Given the description of an element on the screen output the (x, y) to click on. 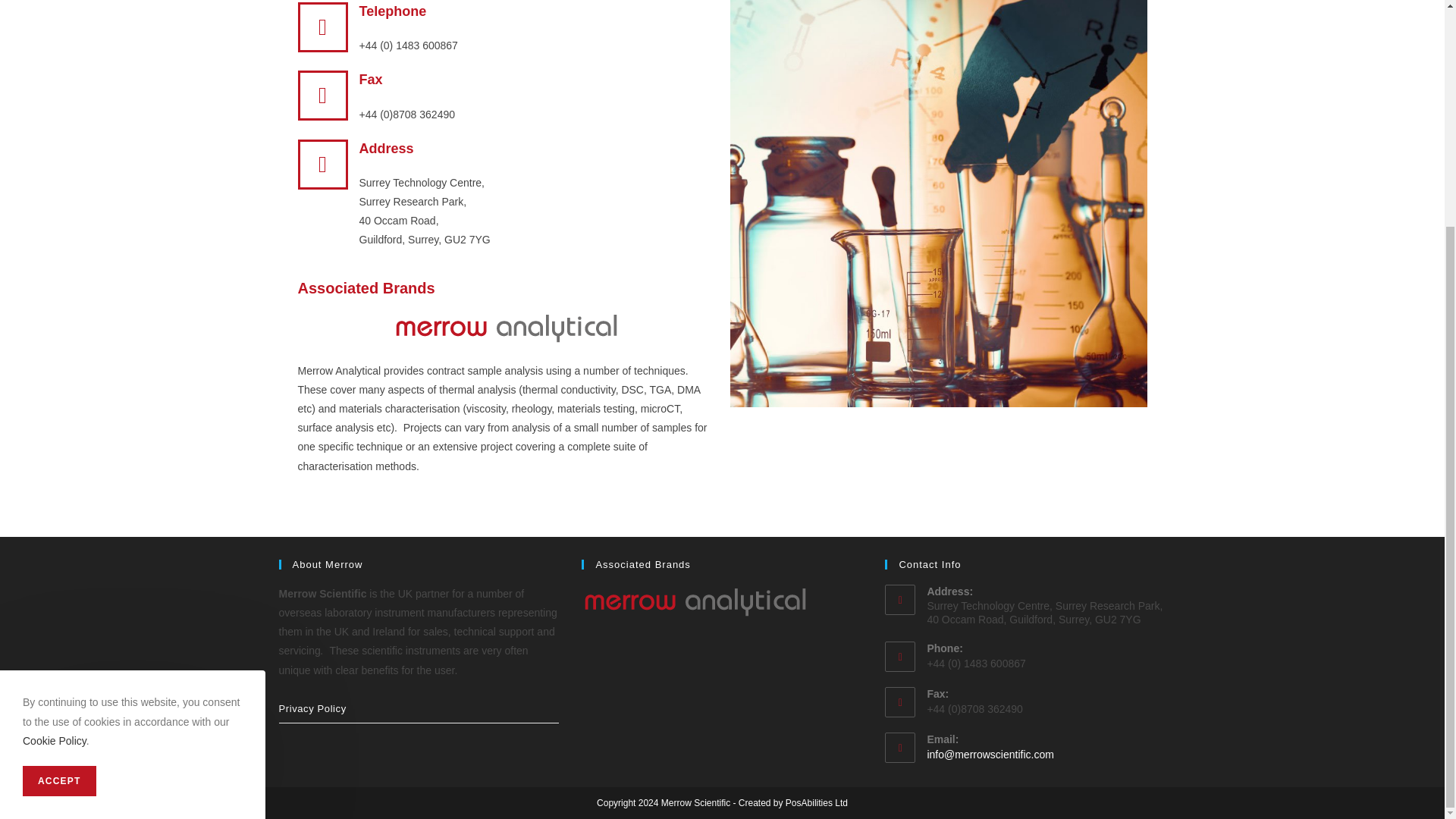
ACCEPT (59, 477)
Privacy Policy (419, 708)
Merrow Analytical (694, 601)
Cookie Policy (54, 437)
PosAbilities Ltd (816, 802)
PosAbilities (816, 802)
